Given the description of an element on the screen output the (x, y) to click on. 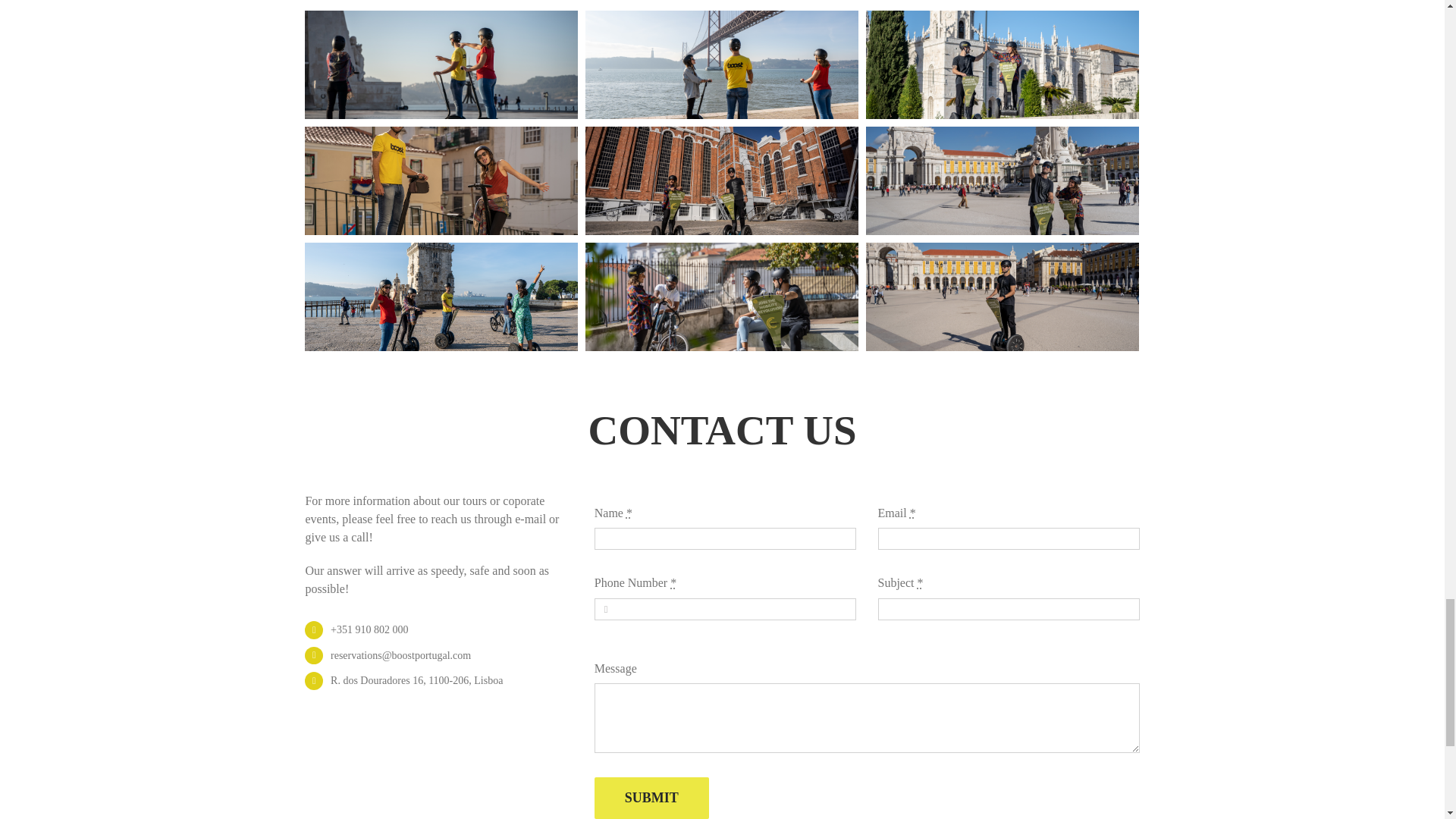
SUBMIT (651, 798)
